Given the description of an element on the screen output the (x, y) to click on. 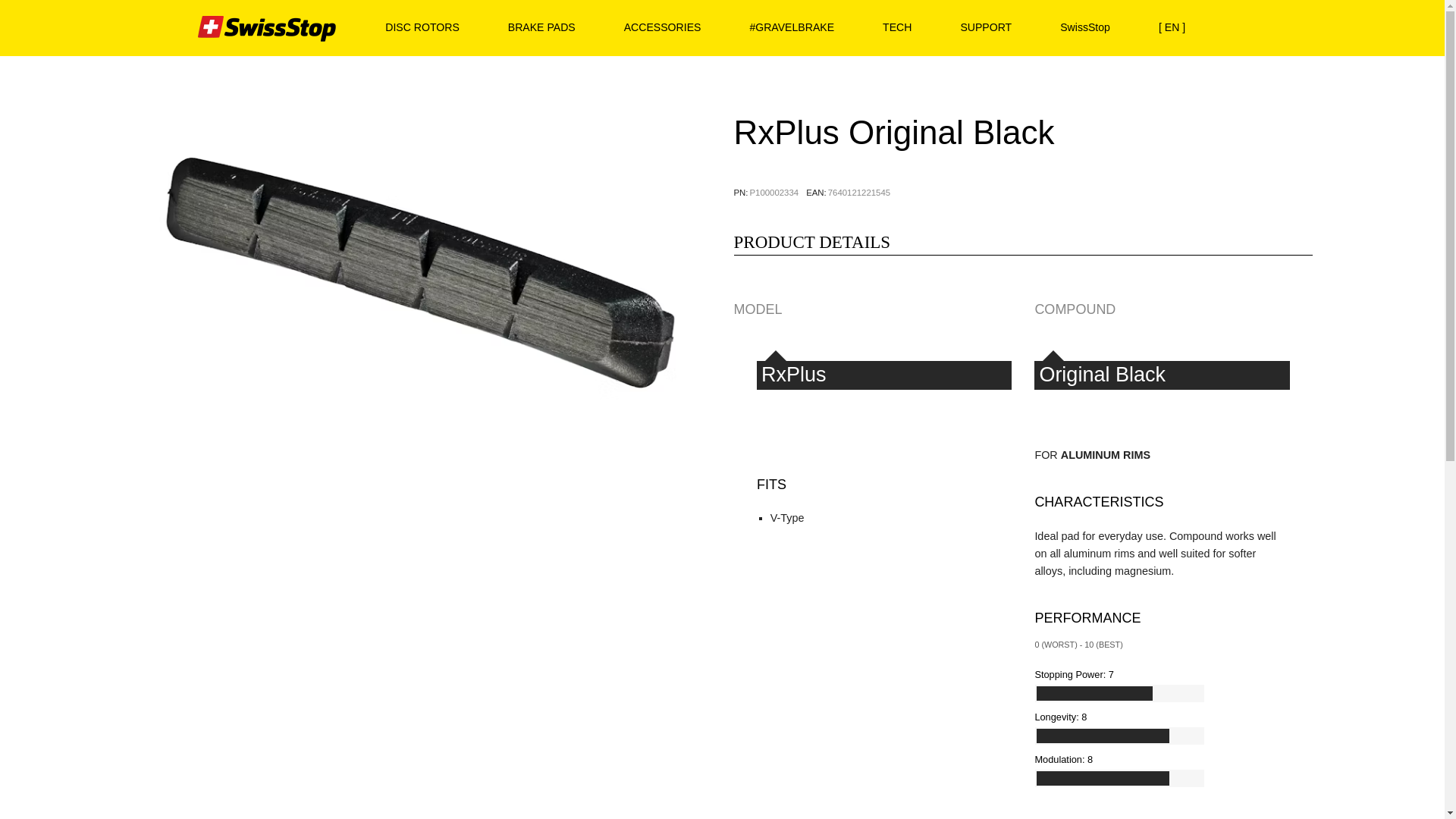
DISC ROTORS (422, 27)
